Given the description of an element on the screen output the (x, y) to click on. 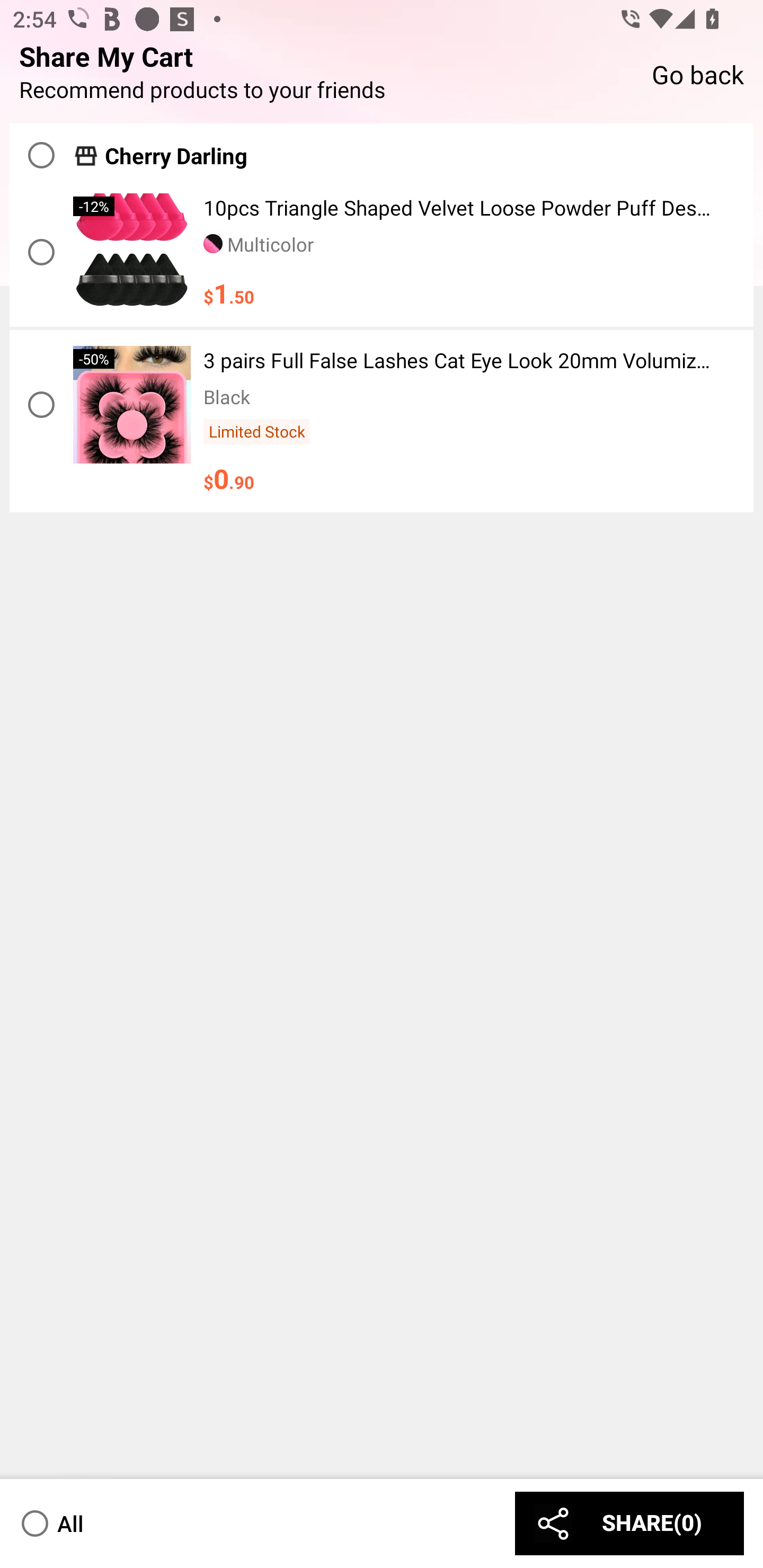
Go back (697, 73)
Cherry Darling (381, 150)
Cherry Darling (176, 155)
 Multicolor (258, 243)
Black (226, 396)
SHARE(0) (629, 1523)
All (51, 1522)
